Given the description of an element on the screen output the (x, y) to click on. 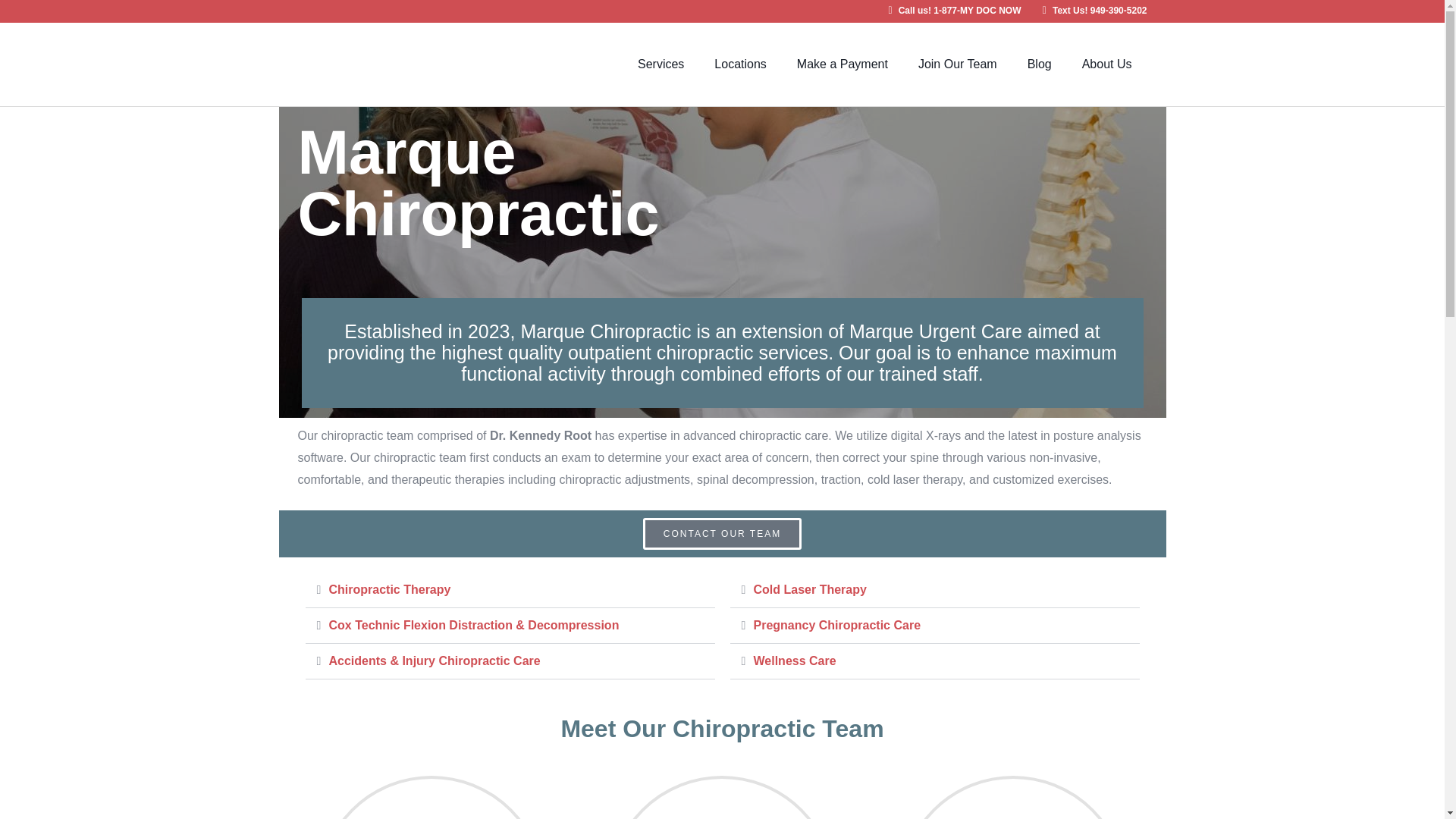
Call us! 1-877-MY DOC NOW (949, 11)
Services (660, 63)
Text Us! 949-390-5202 (1089, 11)
Make a Payment (841, 63)
Blog (1039, 63)
Locations (739, 63)
Join Our Team (956, 63)
About Us (1107, 63)
